Given the description of an element on the screen output the (x, y) to click on. 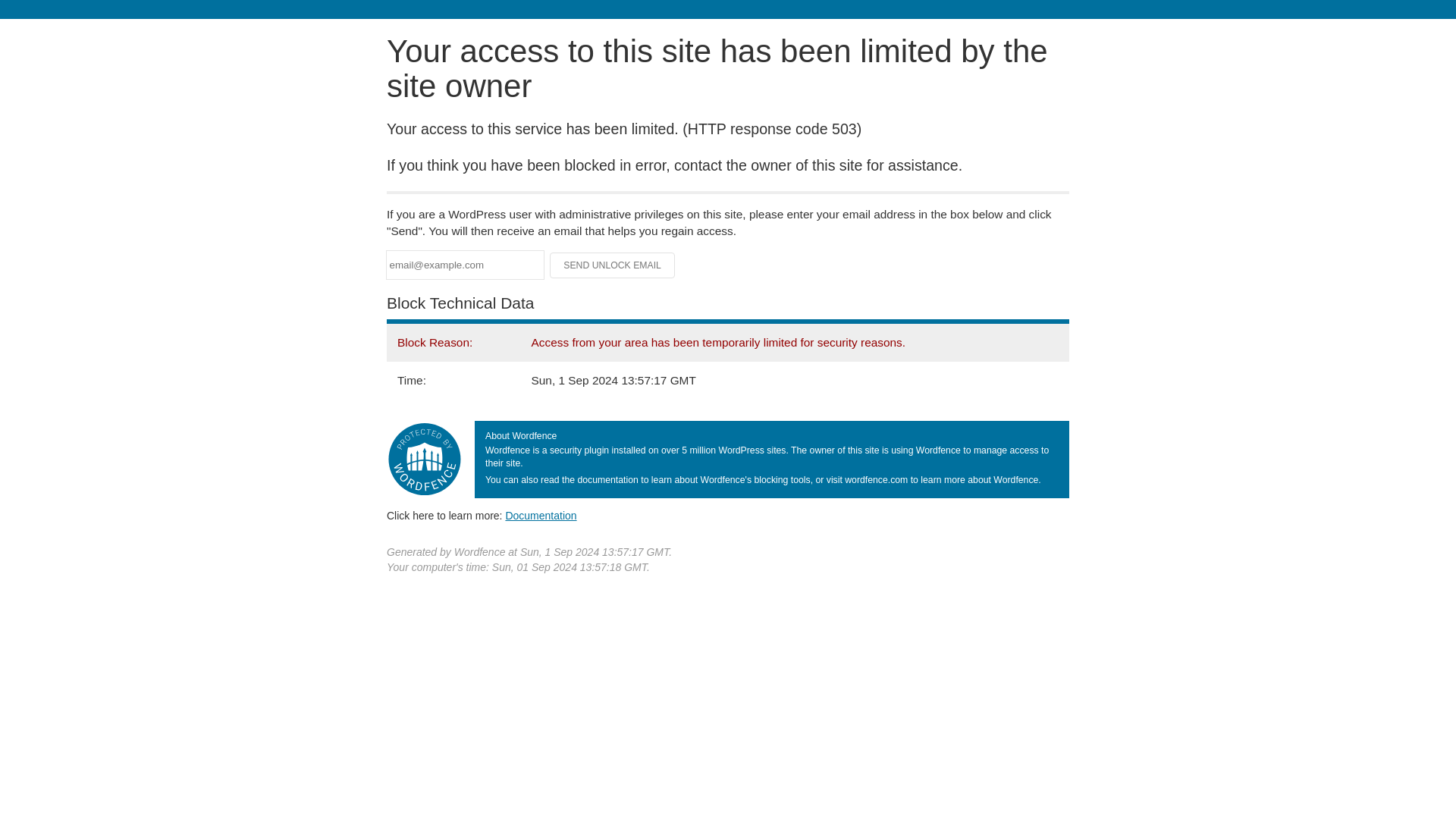
Documentation (540, 515)
Send Unlock Email (612, 265)
Send Unlock Email (612, 265)
